Given the description of an element on the screen output the (x, y) to click on. 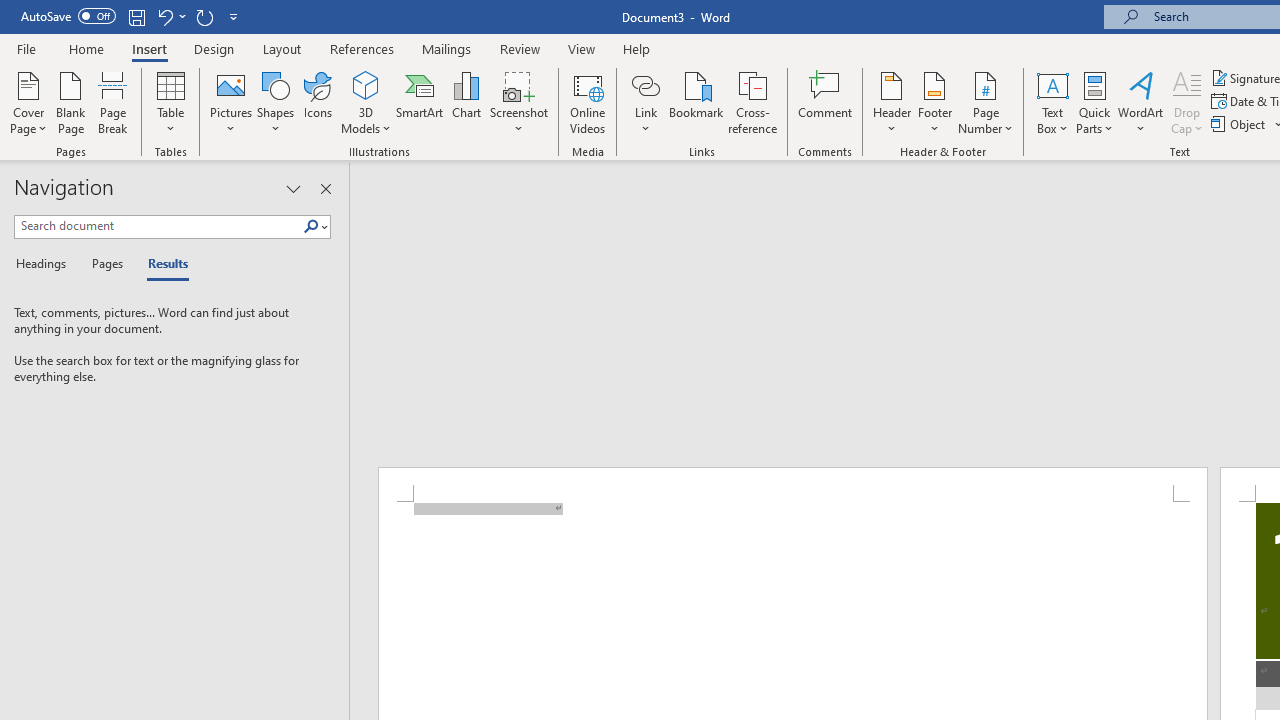
Pictures (230, 102)
Bookmark... (695, 102)
Chart... (466, 102)
